Given the description of an element on the screen output the (x, y) to click on. 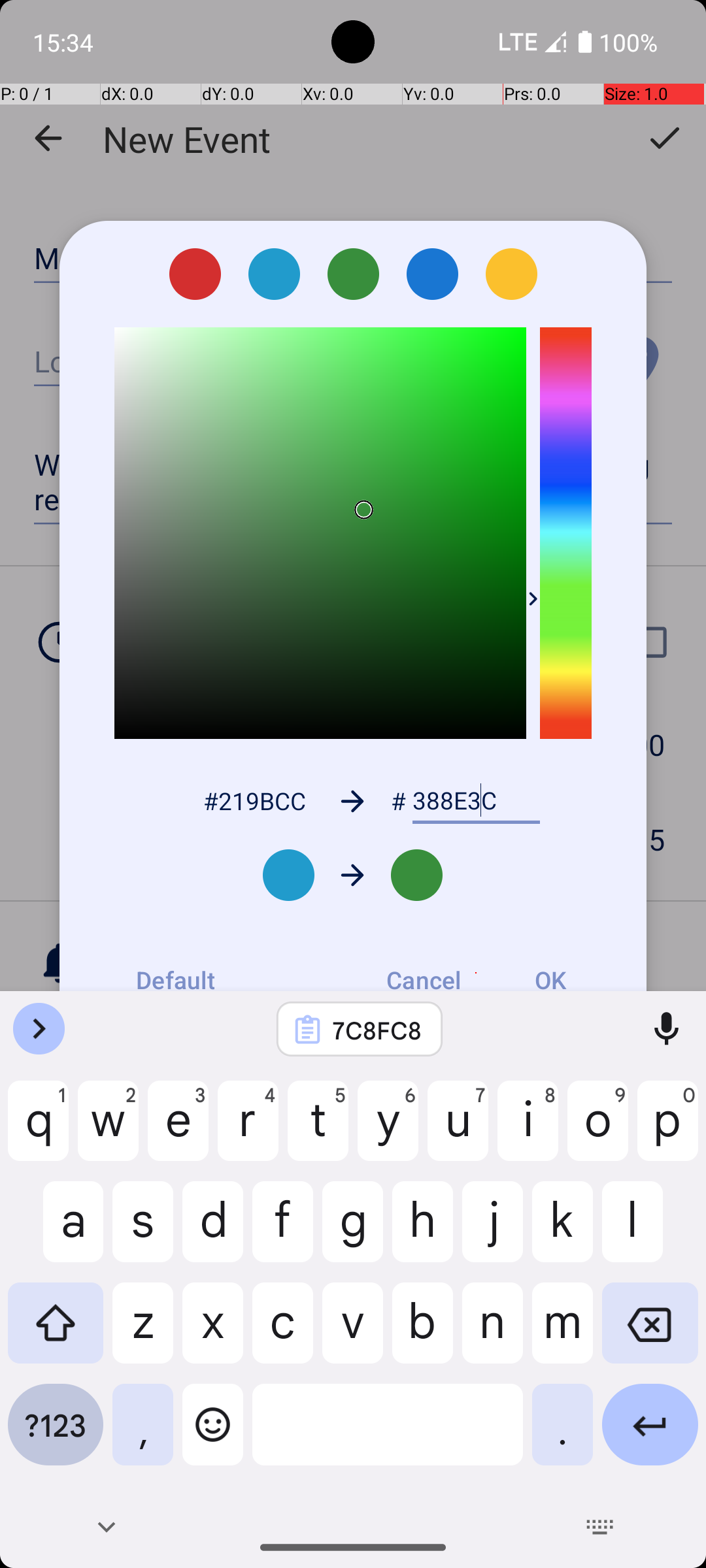
#219BCC Element type: android.widget.TextView (254, 800)
388E3C Element type: android.widget.EditText (475, 800)
Default Element type: android.widget.Button (174, 979)
7C8FC8 Element type: android.widget.TextView (376, 1029)
